Given the description of an element on the screen output the (x, y) to click on. 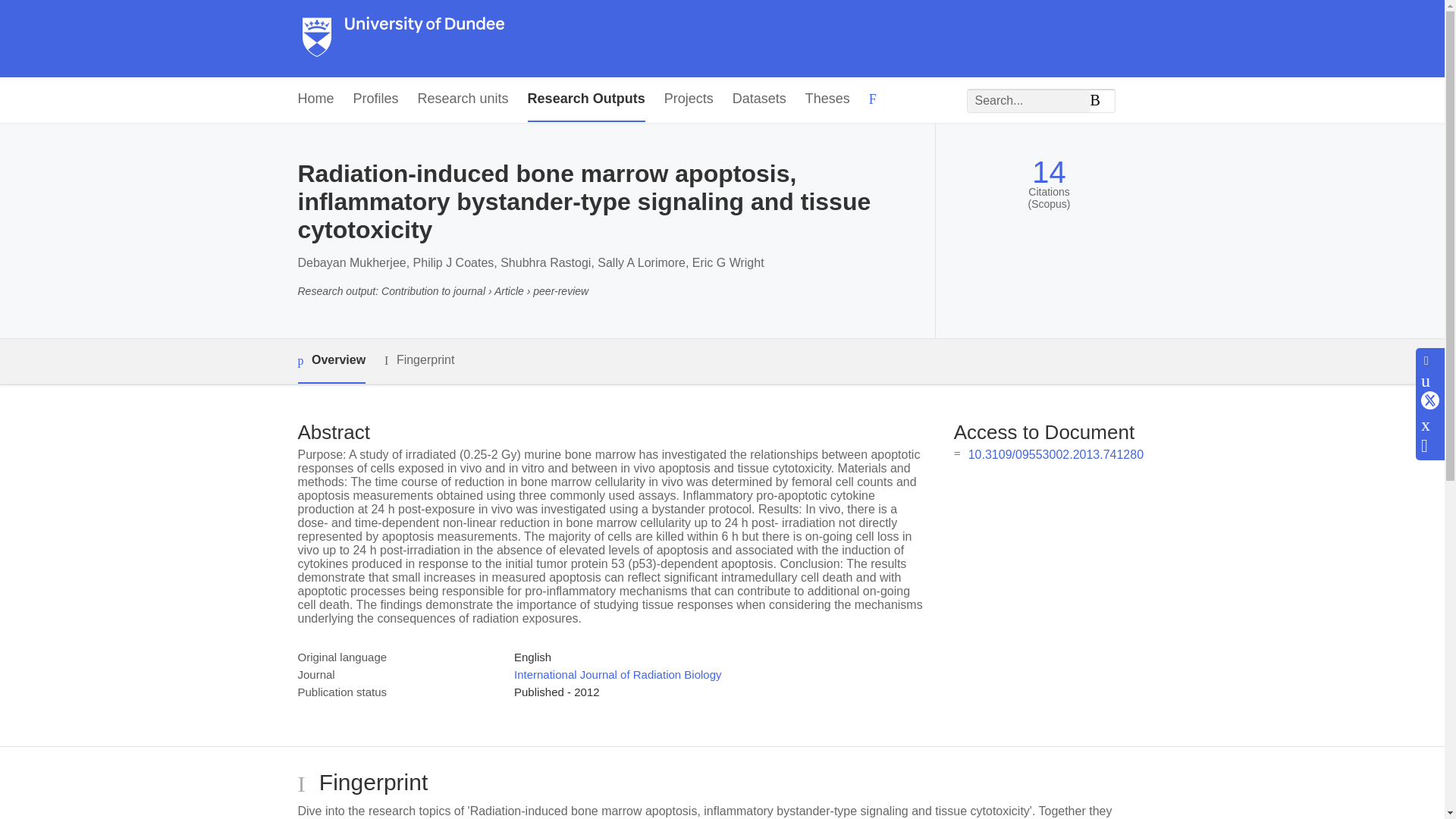
Research units (462, 99)
Theses (827, 99)
Profiles (375, 99)
Research Outputs (586, 99)
Datasets (759, 99)
Discovery - the University of Dundee Research Portal Home (404, 38)
14 (1048, 171)
Projects (688, 99)
Fingerprint (419, 360)
